Given the description of an element on the screen output the (x, y) to click on. 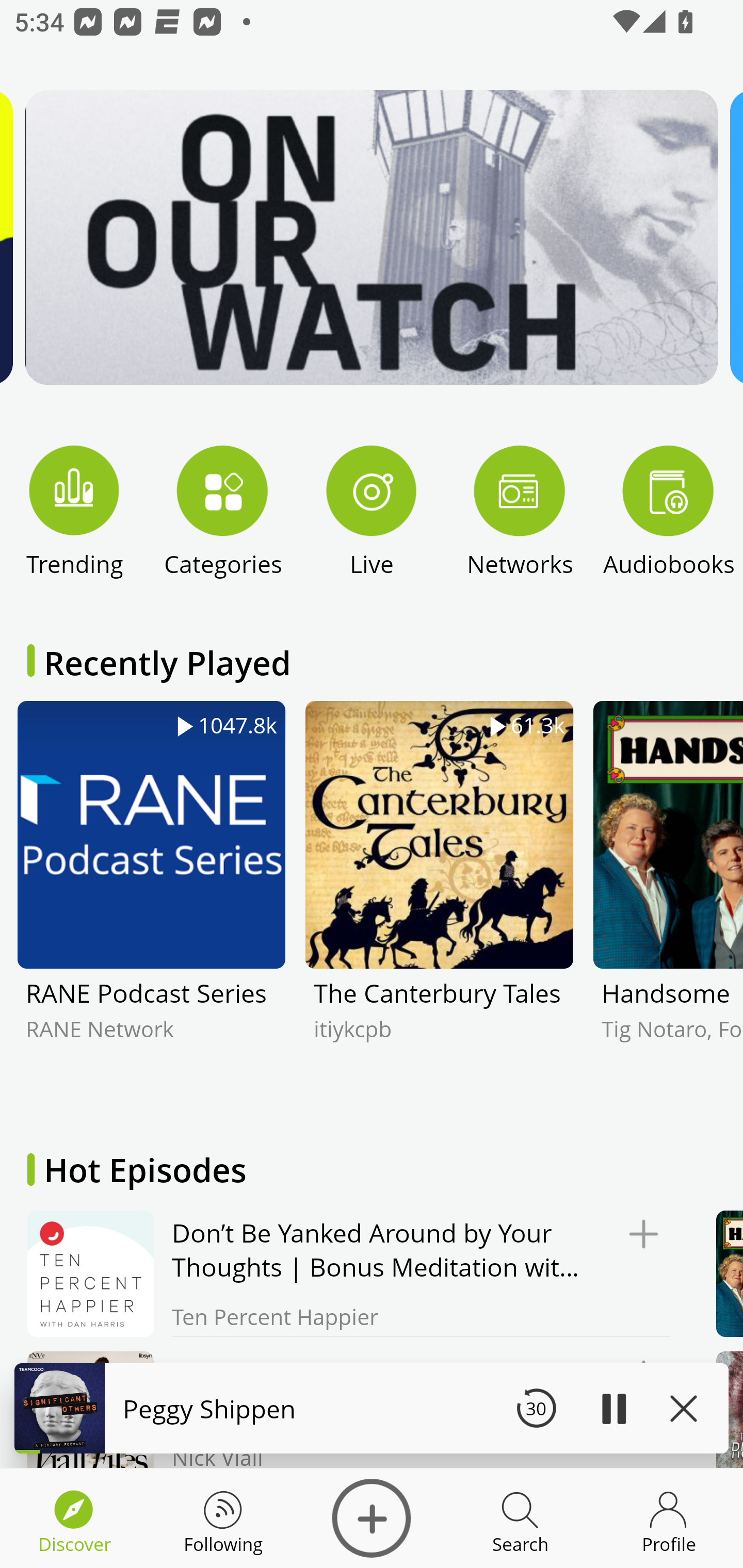
1047.8k RANE Podcast Series RANE Network (151, 902)
61.3k The Canterbury Tales itiykcpb (439, 902)
Handsome Tig Notaro, Fortune Feimster, Mae Martin (667, 902)
Peggy Shippen 30 Seek Backward 114970.0 Play (371, 1407)
Play (613, 1407)
30 Seek Backward (536, 1407)
Discover Following (222, 1518)
Discover (371, 1518)
Discover Search (519, 1518)
Discover Profile (668, 1518)
